Given the description of an element on the screen output the (x, y) to click on. 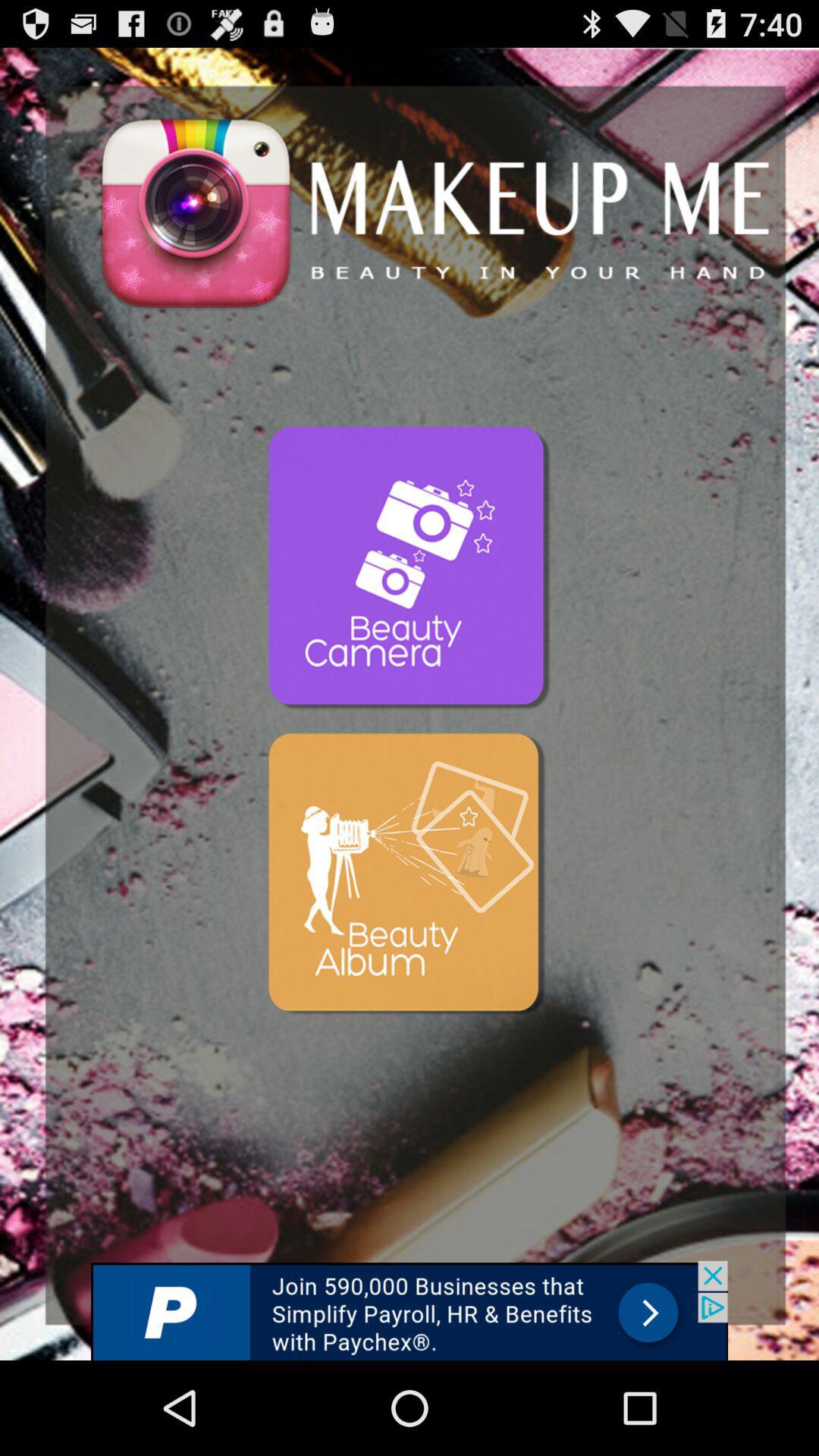
camera page (409, 568)
